Given the description of an element on the screen output the (x, y) to click on. 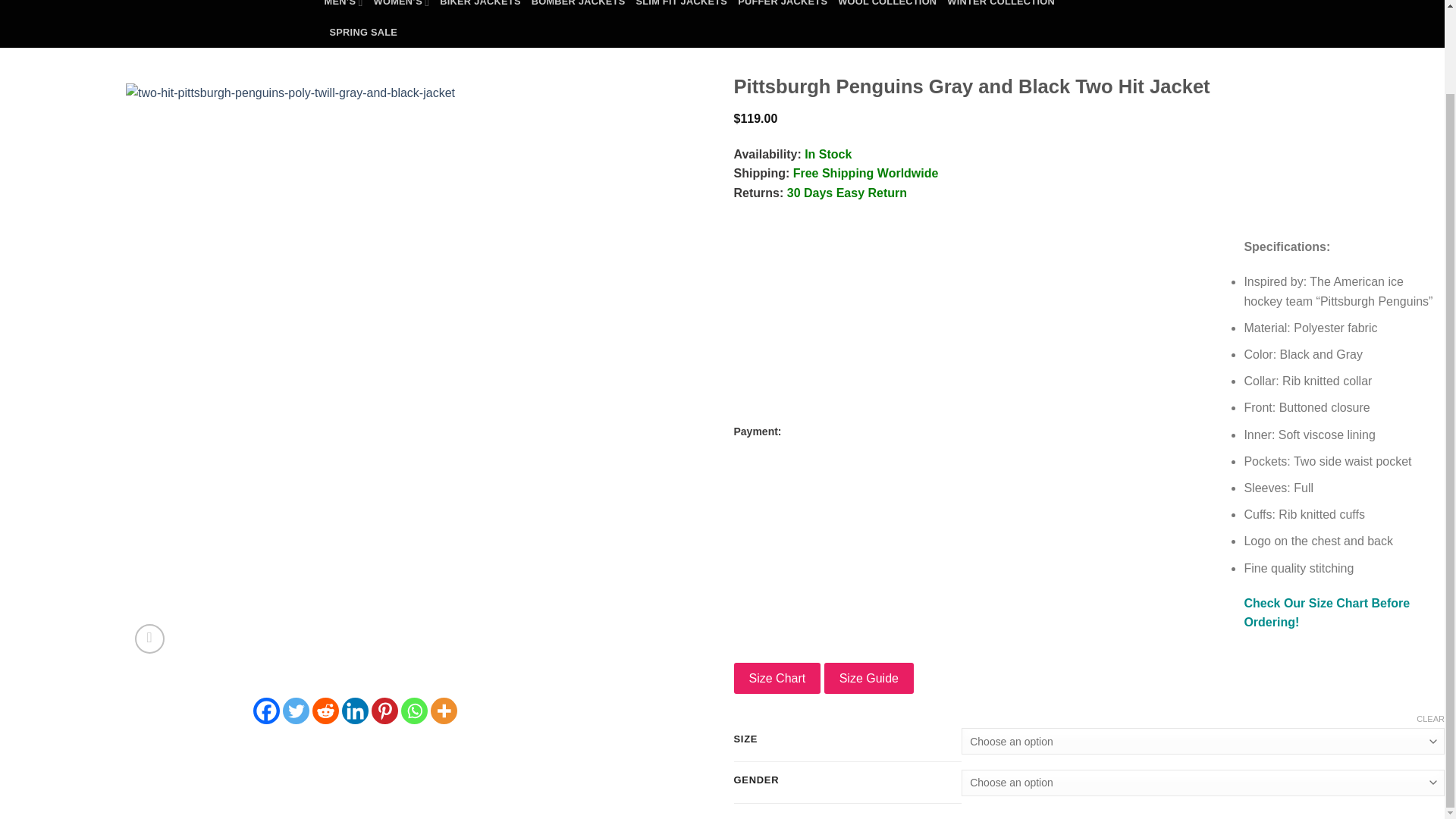
Facebook (266, 710)
Zoom (149, 638)
